Given the description of an element on the screen output the (x, y) to click on. 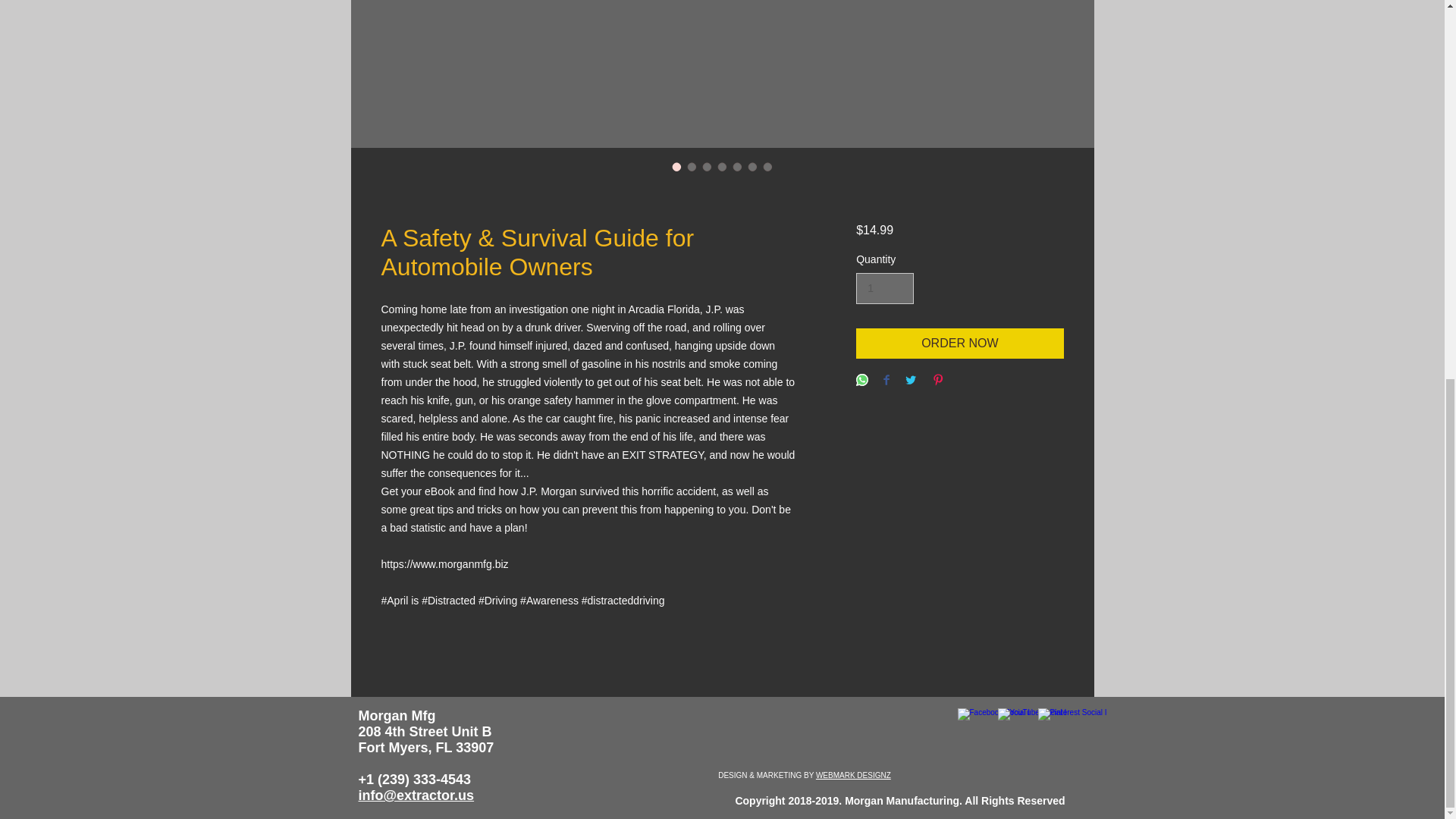
ORDER NOW (959, 343)
WEBMARK DESIGNZ (853, 775)
1 (885, 287)
